Given the description of an element on the screen output the (x, y) to click on. 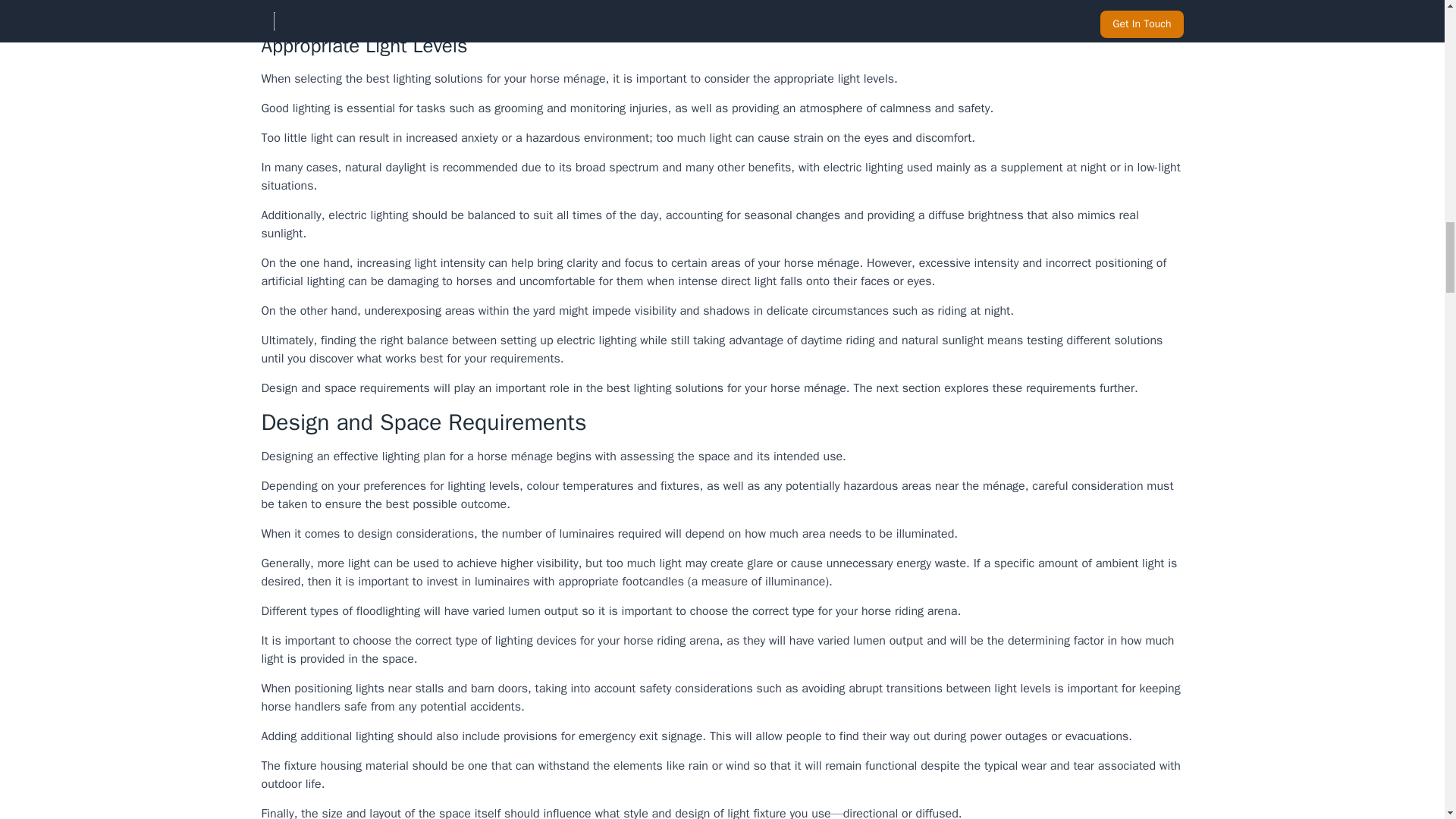
Design and space requirements (344, 387)
